Given the description of an element on the screen output the (x, y) to click on. 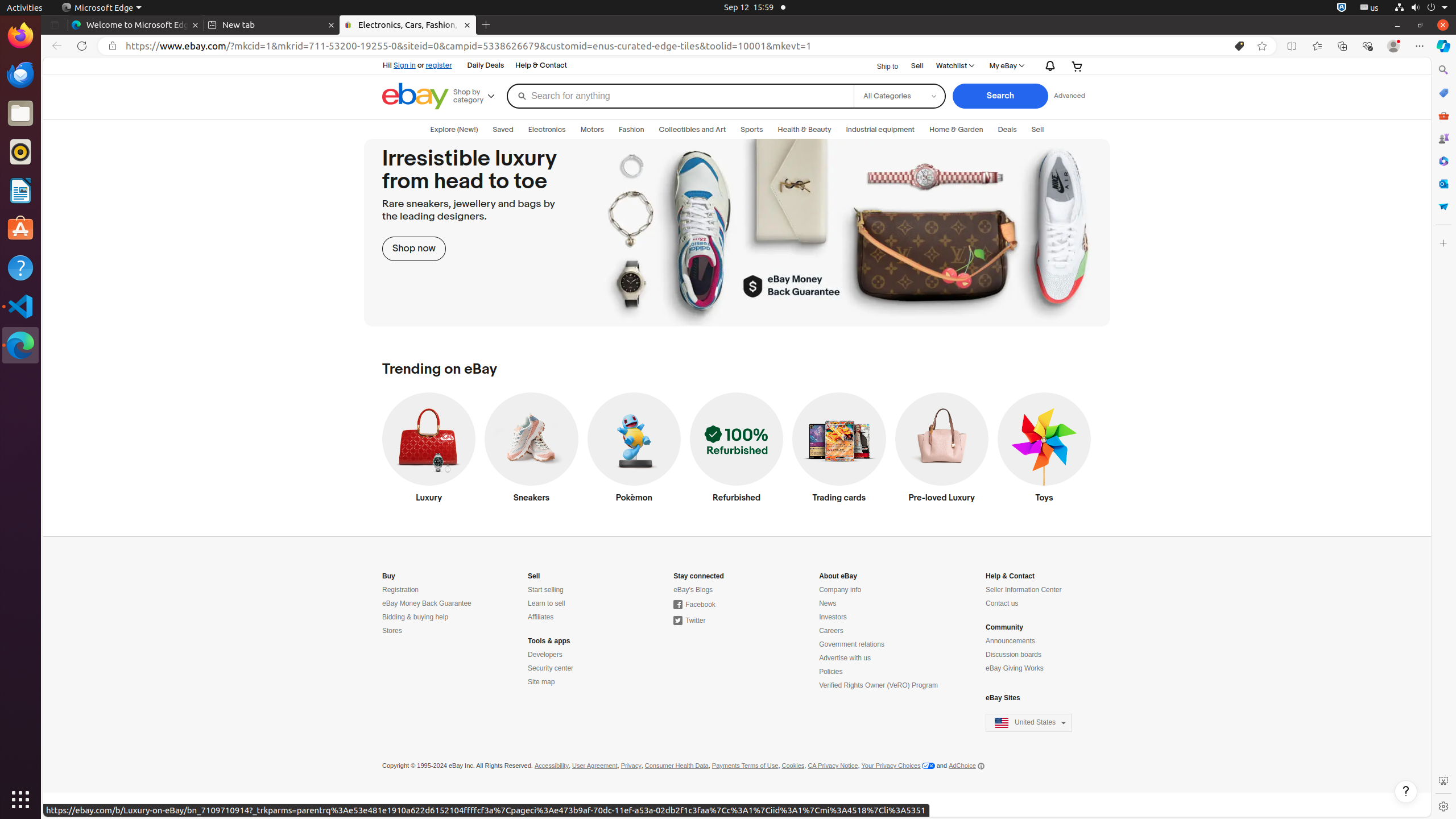
Careers Element type: link (831, 630)
Customize Element type: push-button (1443, 243)
Buy Element type: link (388, 576)
LibreOffice Writer Element type: push-button (20, 190)
Profile 1 Profile, Please sign in Element type: push-button (1392, 46)
